Given the description of an element on the screen output the (x, y) to click on. 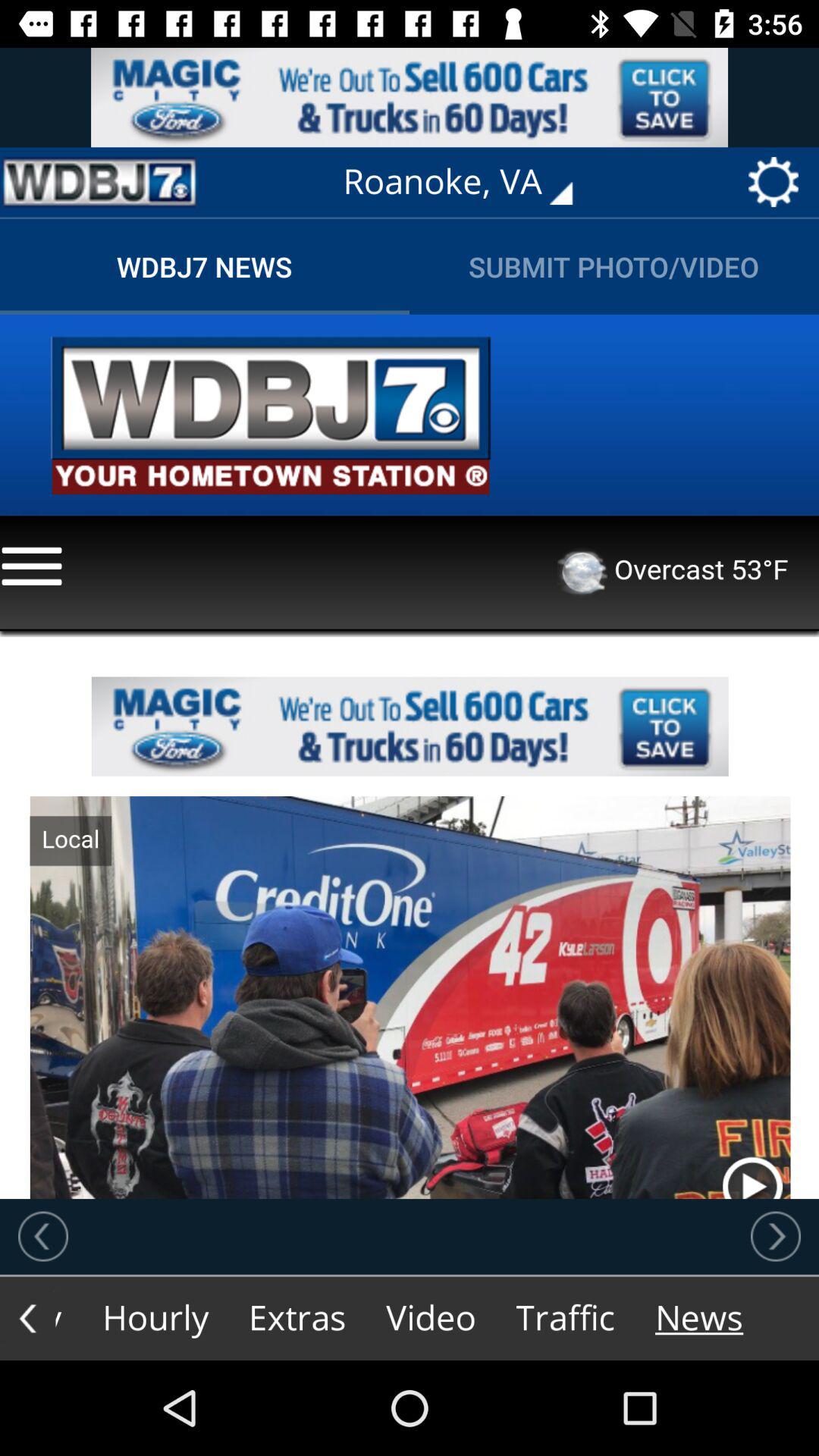
go back (43, 1236)
